Given the description of an element on the screen output the (x, y) to click on. 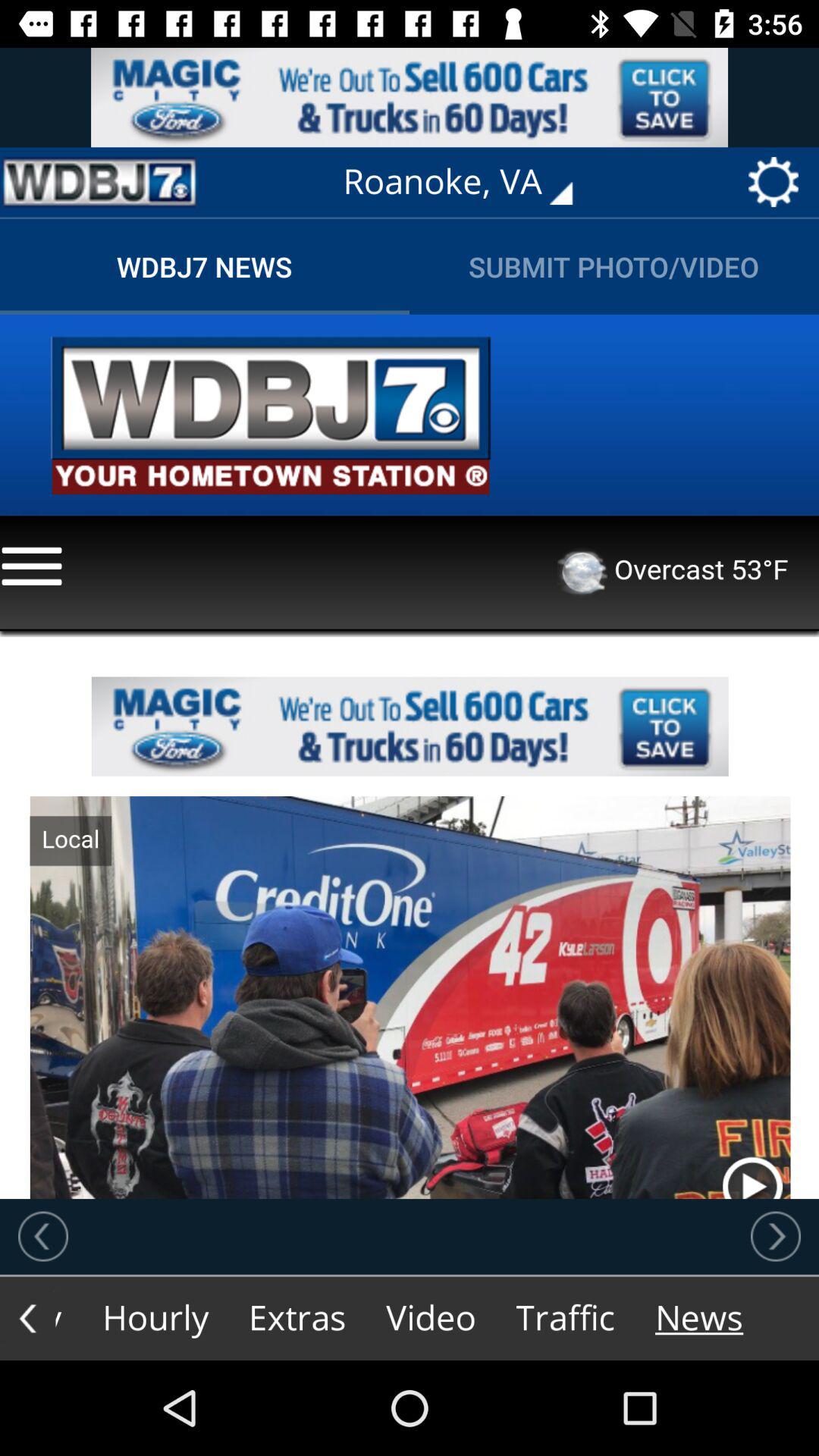
go back (43, 1236)
